Given the description of an element on the screen output the (x, y) to click on. 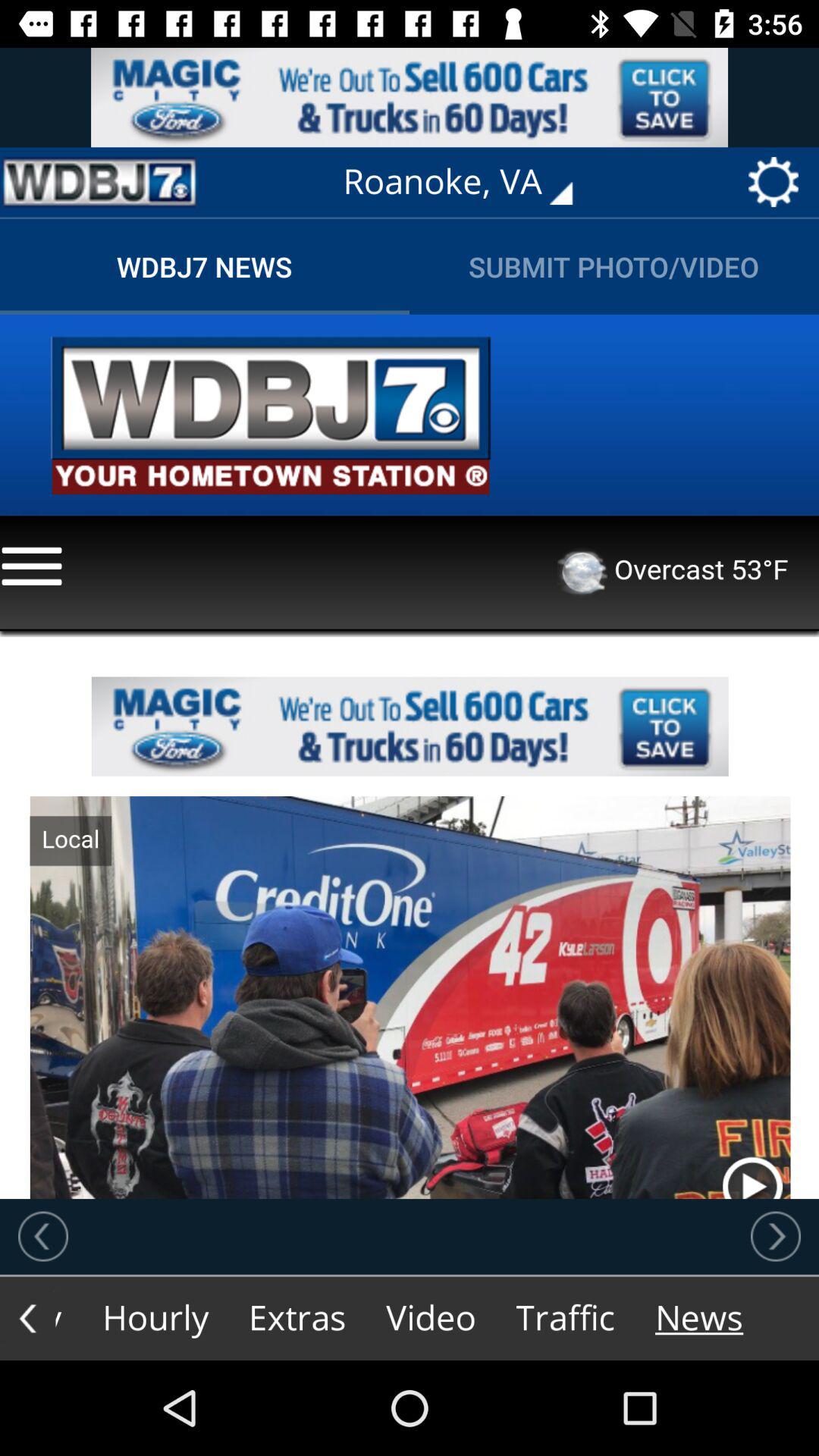
go back (43, 1236)
